Given the description of an element on the screen output the (x, y) to click on. 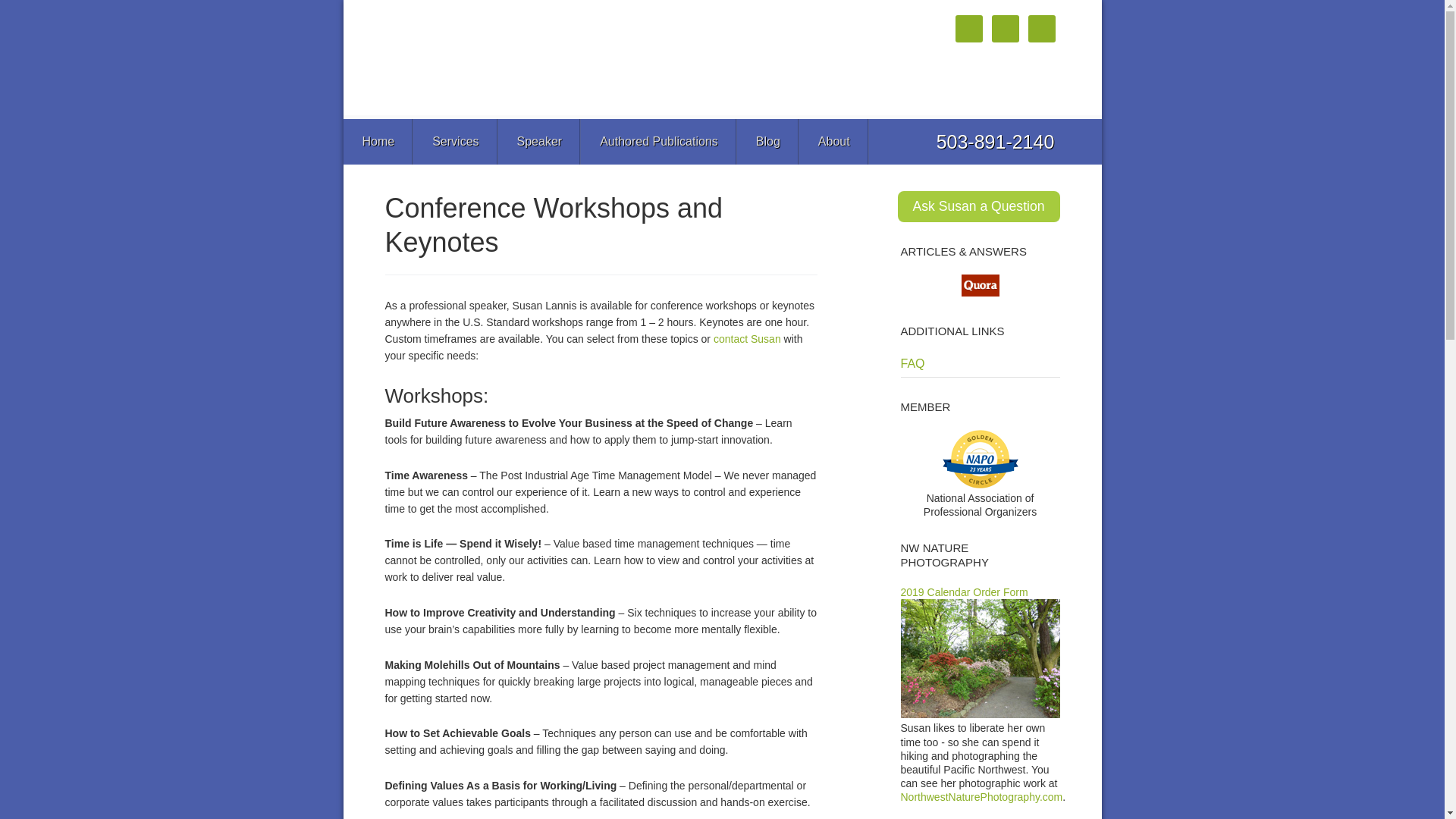
Blog (767, 141)
National Association of Professional Organizers (980, 498)
Home (377, 141)
FAQ (912, 363)
503-891-2140 (994, 141)
About (834, 141)
Organization Plus! (536, 52)
Services (455, 141)
NorthwestNaturePhotography.com (981, 797)
Speaker (538, 141)
Ask Susan a Question (978, 205)
contact Susan (746, 338)
2019 Calendar Order Form (964, 592)
Authored Publications (658, 141)
